Given the description of an element on the screen output the (x, y) to click on. 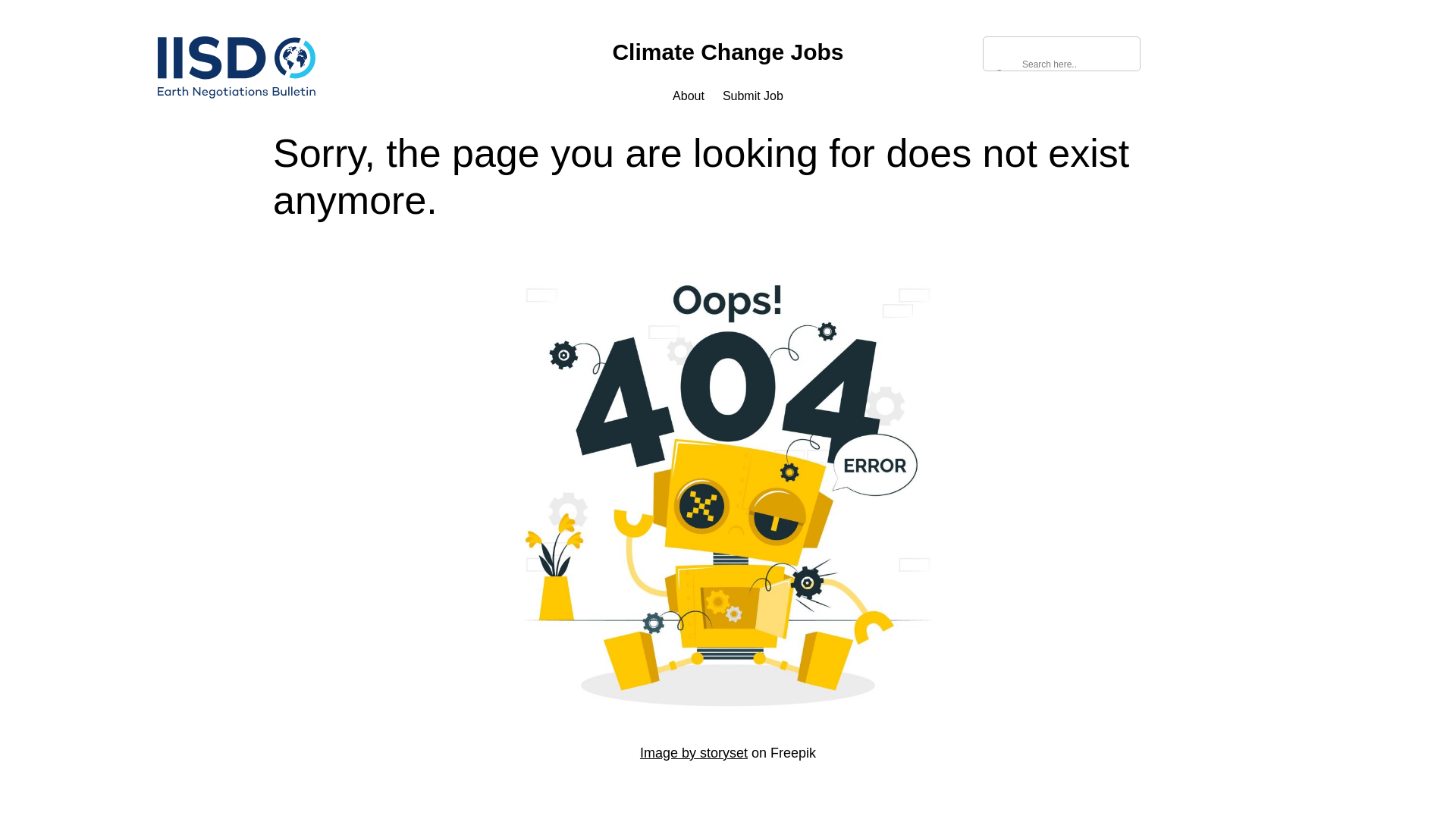
Submit Job (752, 96)
Climate Change Jobs (727, 51)
About (688, 96)
Image by storyset (694, 752)
